Given the description of an element on the screen output the (x, y) to click on. 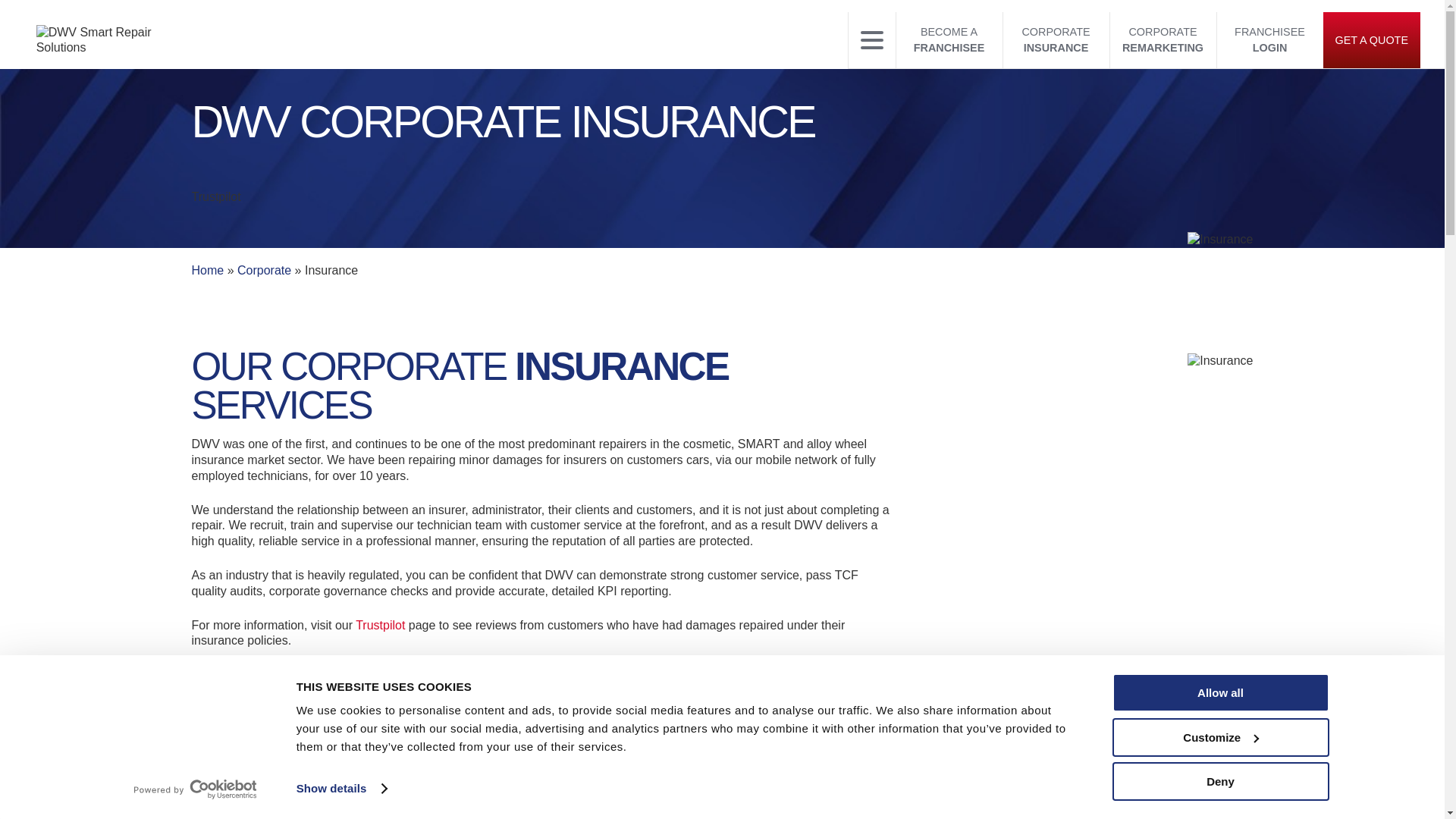
Deny (1219, 781)
Allow all (1219, 692)
Customize (1219, 736)
Show details (341, 788)
